Given the description of an element on the screen output the (x, y) to click on. 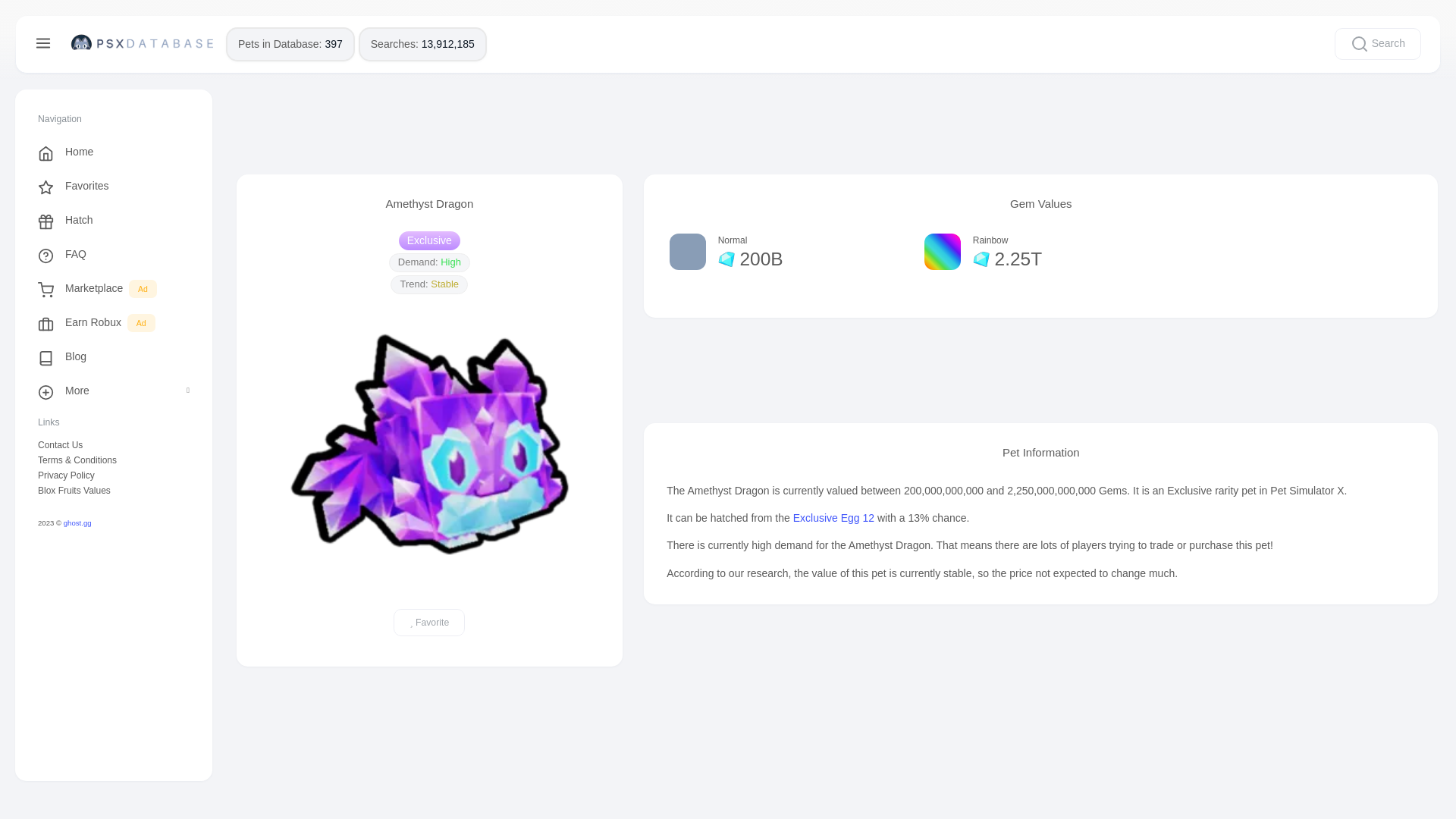
Home (113, 151)
Contact Us (113, 444)
Privacy Policy (113, 475)
ghost.gg (77, 522)
Blox Fruits Values (113, 490)
FAQ (113, 254)
Blog (113, 356)
Exclusive Egg 12 (834, 517)
Hatch (113, 220)
More (113, 390)
Favorites (113, 185)
Favorite (428, 622)
Marketplace  Ad (113, 288)
Earn Robux  Ad (113, 322)
Search (1378, 43)
